Given the description of an element on the screen output the (x, y) to click on. 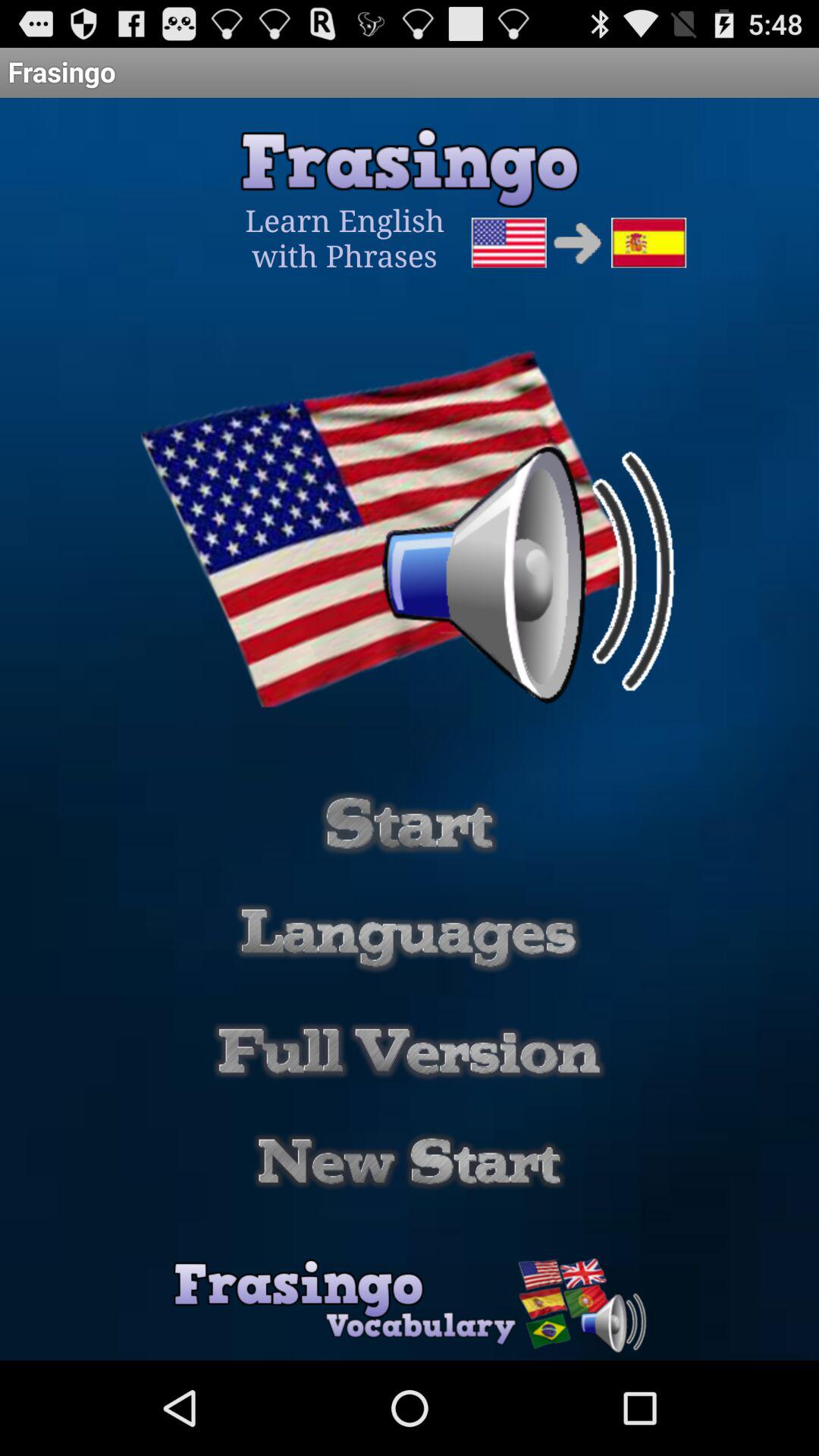
start app (409, 823)
